Given the description of an element on the screen output the (x, y) to click on. 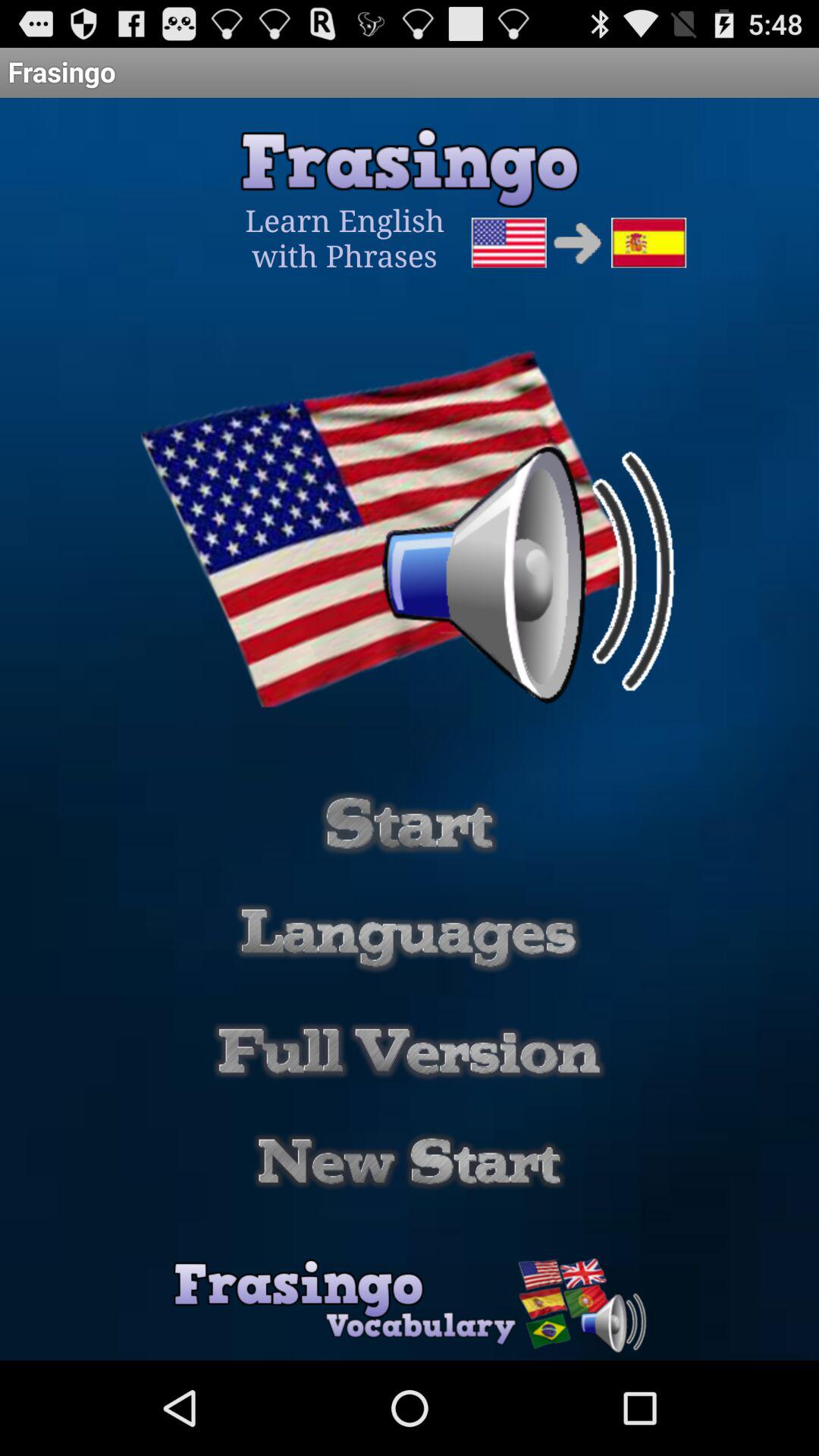
start app (409, 823)
